Given the description of an element on the screen output the (x, y) to click on. 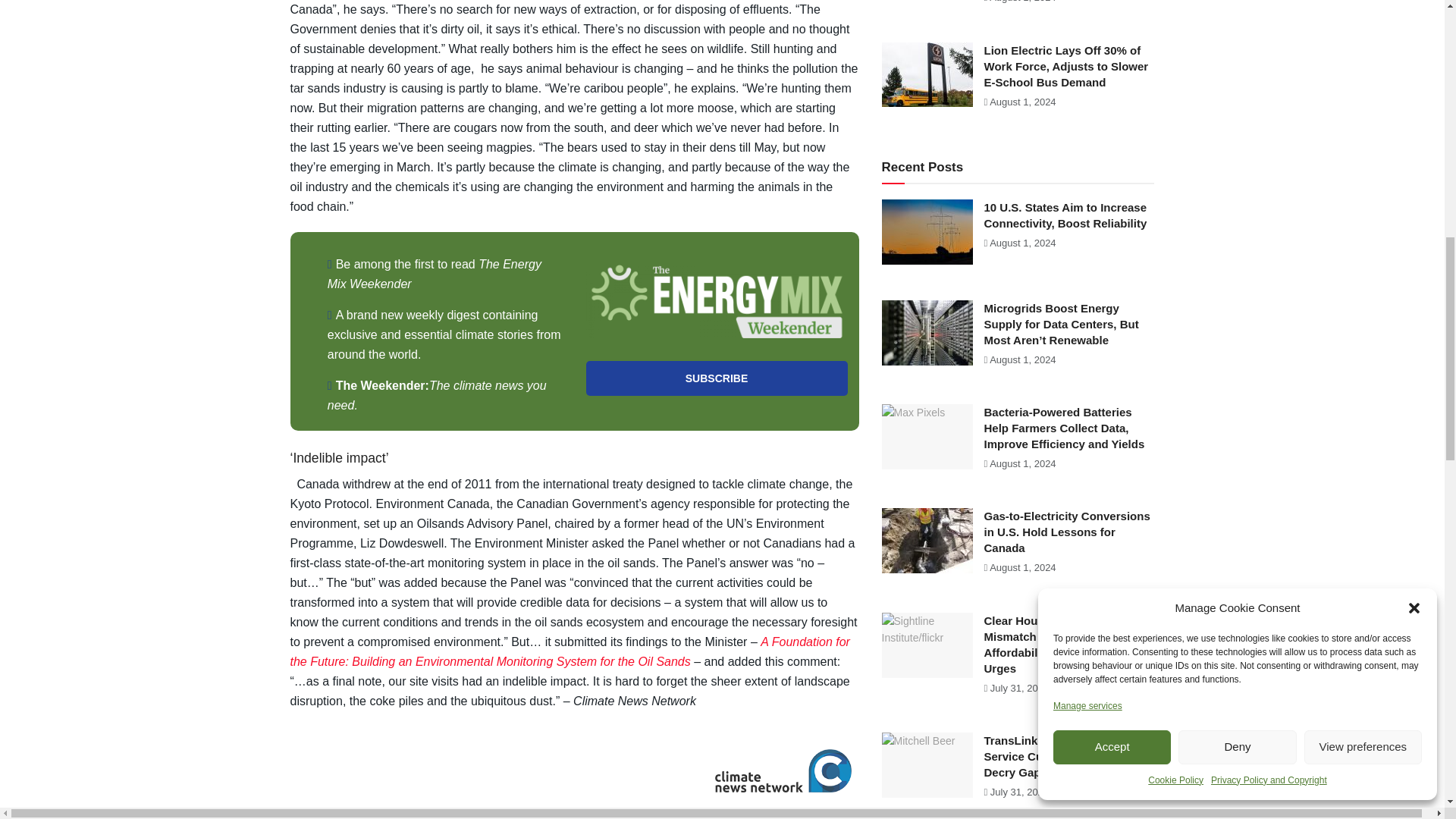
Environment Canada's Oilsands Advisory Panel Report (568, 651)
Subscribe (716, 378)
TEM-WeekenderLight (716, 301)
